Given the description of an element on the screen output the (x, y) to click on. 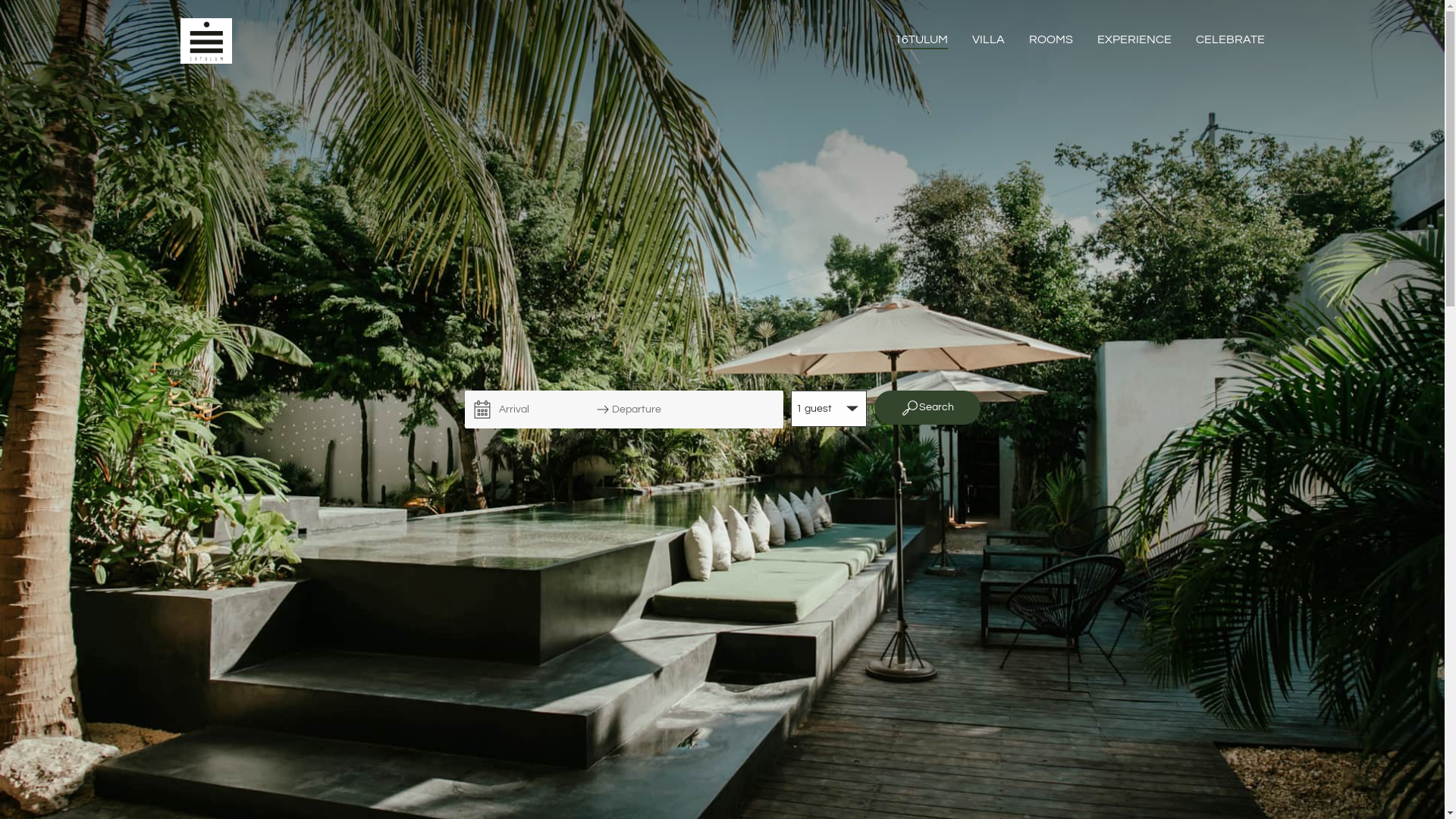
Search Element type: text (926, 407)
EXPERIENCE Element type: text (1133, 41)
Image Title Element type: hover (206, 40)
1 guest Element type: text (828, 408)
CELEBRATE Element type: text (1229, 41)
16TULUM Element type: text (920, 41)
VILLA Element type: text (988, 41)
ROOMS Element type: text (1050, 41)
